Given the description of an element on the screen output the (x, y) to click on. 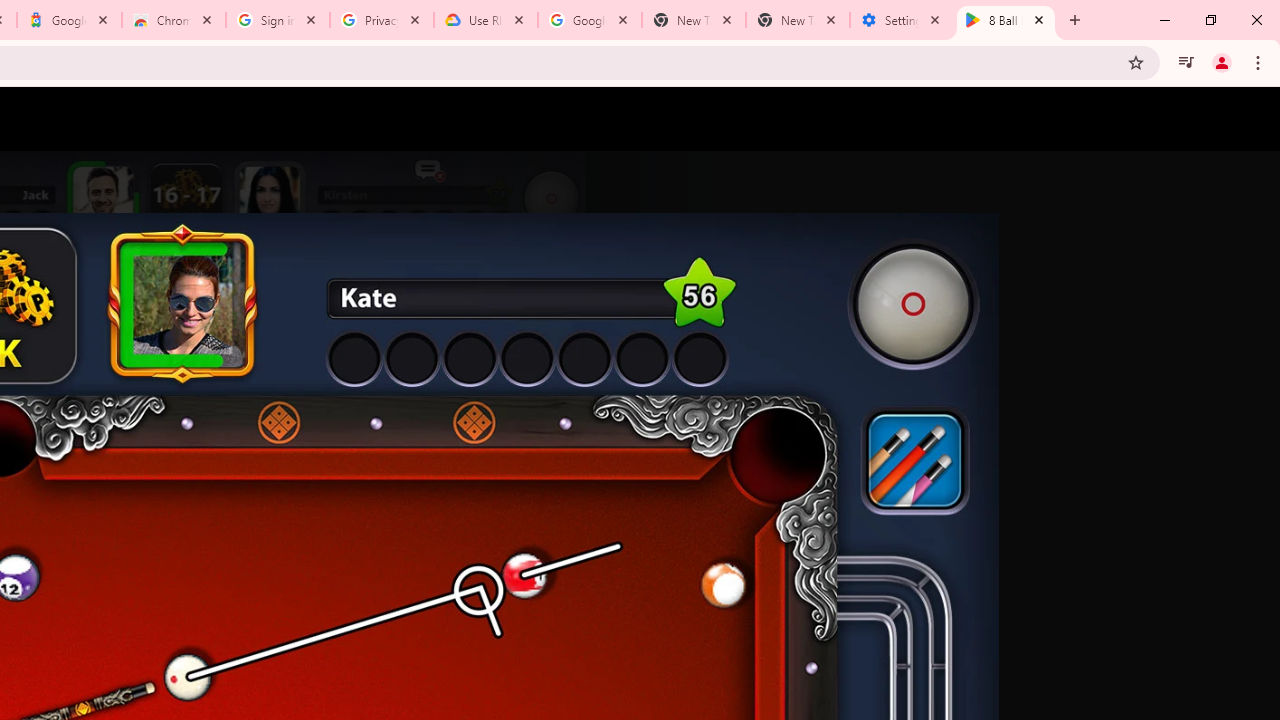
Chrome Web Store - Color themes by Chrome (173, 20)
